Given the description of an element on the screen output the (x, y) to click on. 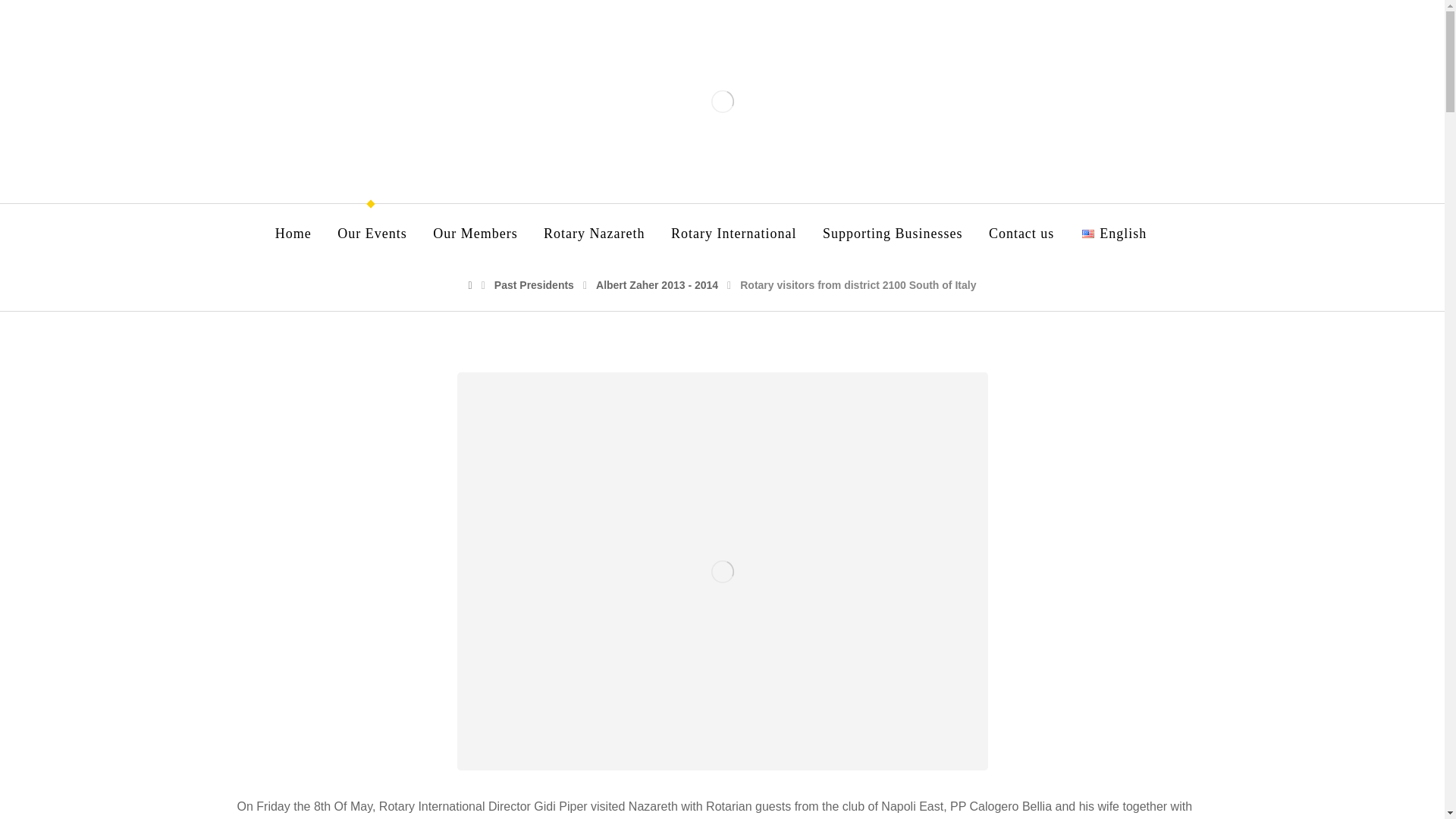
Rotary International (733, 233)
Our Events (371, 233)
Rotary visitors from district 2100 South of Italy (857, 285)
Past Presidents (534, 285)
Rotary Club Nazareth (722, 101)
Rotary Nazareth (594, 233)
Albert Zaher 2013 - 2014 (656, 285)
Home (293, 233)
Supporting Businesses (892, 233)
Our Members (474, 233)
English (1113, 233)
Contact us (1021, 233)
